Given the description of an element on the screen output the (x, y) to click on. 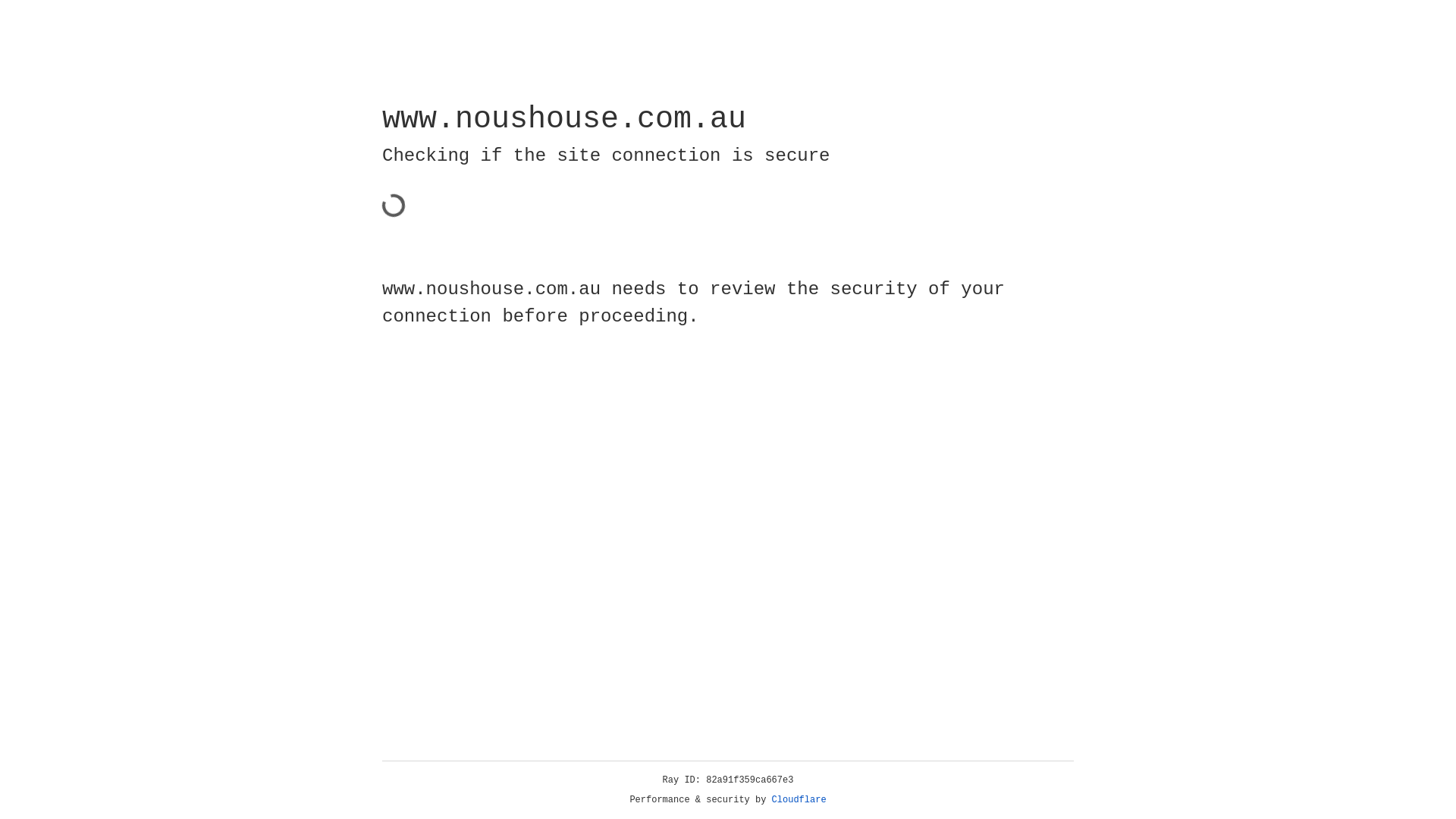
Cloudflare Element type: text (798, 799)
